Given the description of an element on the screen output the (x, y) to click on. 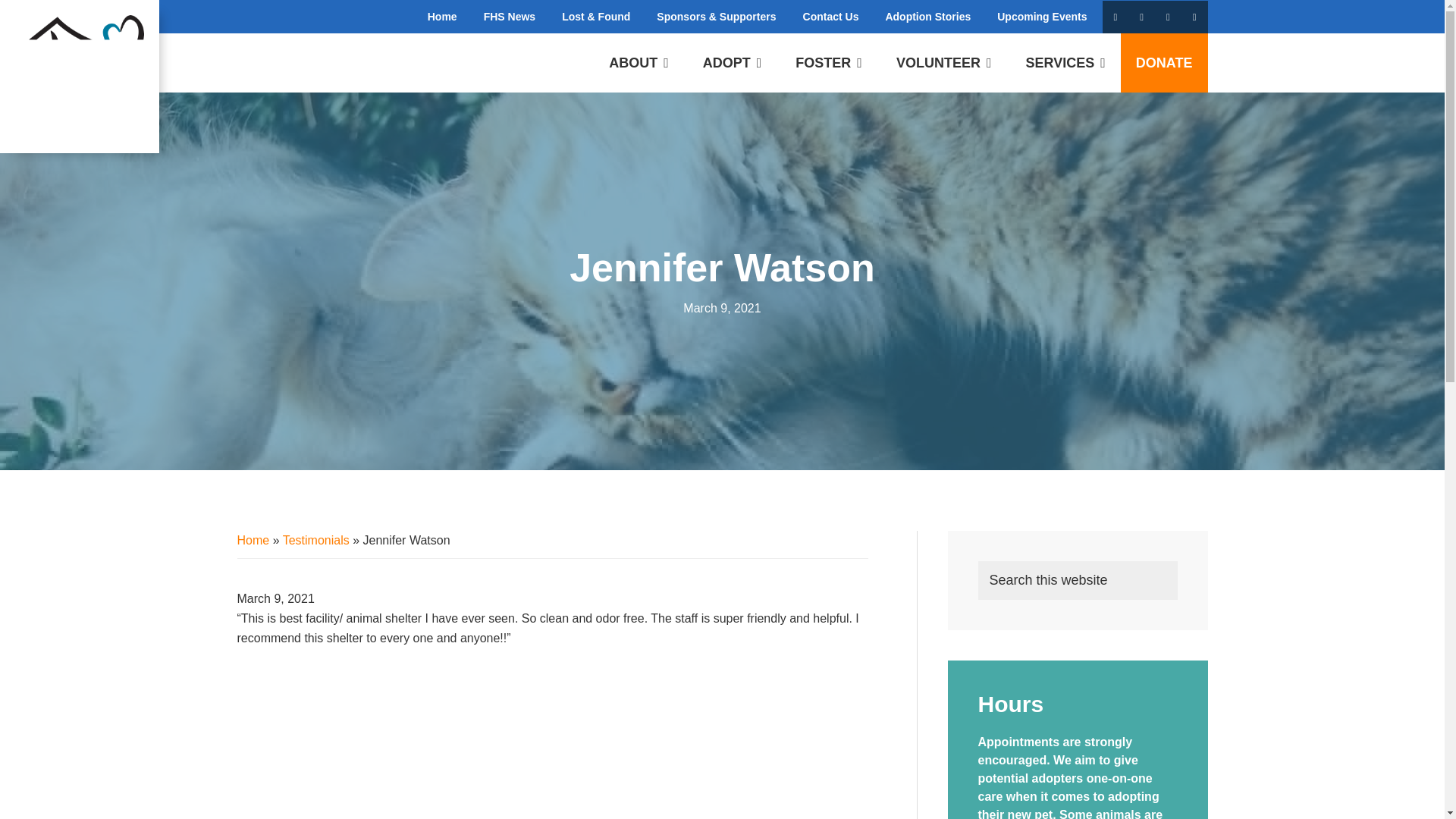
FHS News (509, 16)
Foothills Humane Society (79, 76)
FOSTER (828, 62)
Home (442, 16)
VOLUNTEER (943, 62)
ADOPT (732, 62)
Contact Us (831, 16)
